Given the description of an element on the screen output the (x, y) to click on. 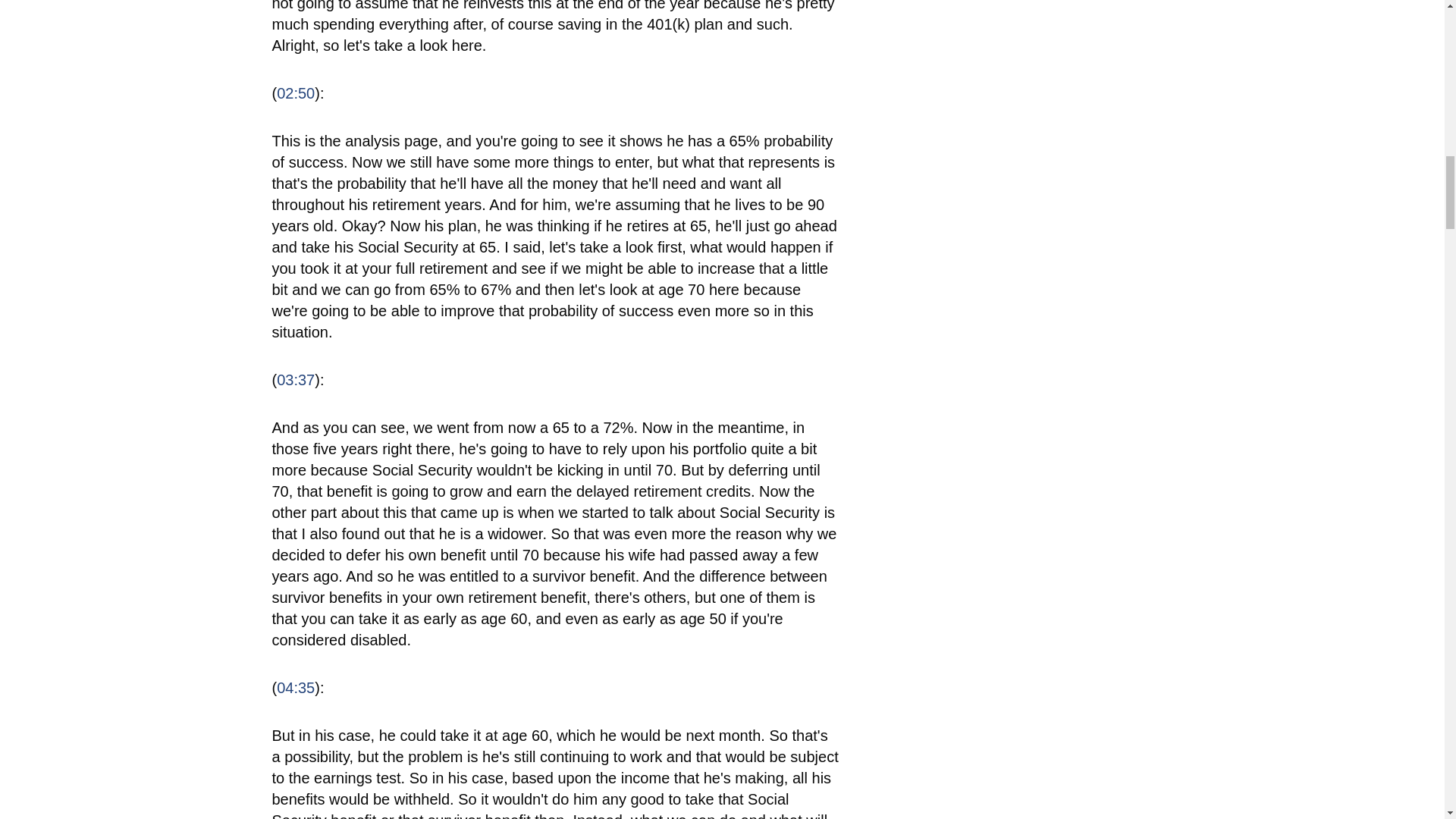
03:37 (295, 379)
04:35 (295, 687)
02:50 (295, 93)
